Given the description of an element on the screen output the (x, y) to click on. 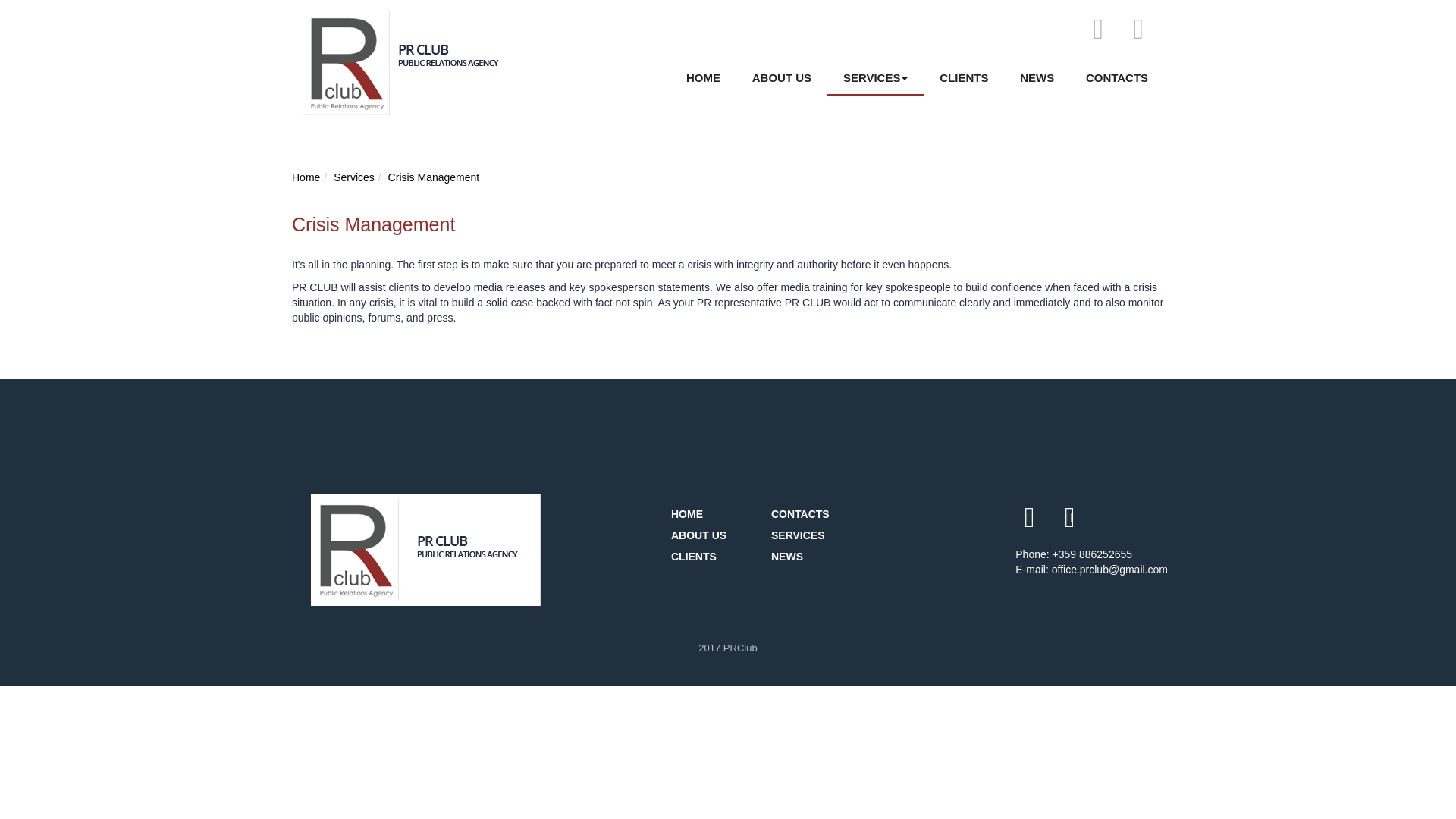
CLIENTS (963, 78)
HOME (702, 78)
NEWS (1037, 78)
Home (306, 177)
HOME (712, 514)
CONTACTS (1116, 78)
CONTACTS (812, 514)
CLIENTS (712, 557)
SERVICES (812, 536)
Crisis Management (434, 177)
